Given the description of an element on the screen output the (x, y) to click on. 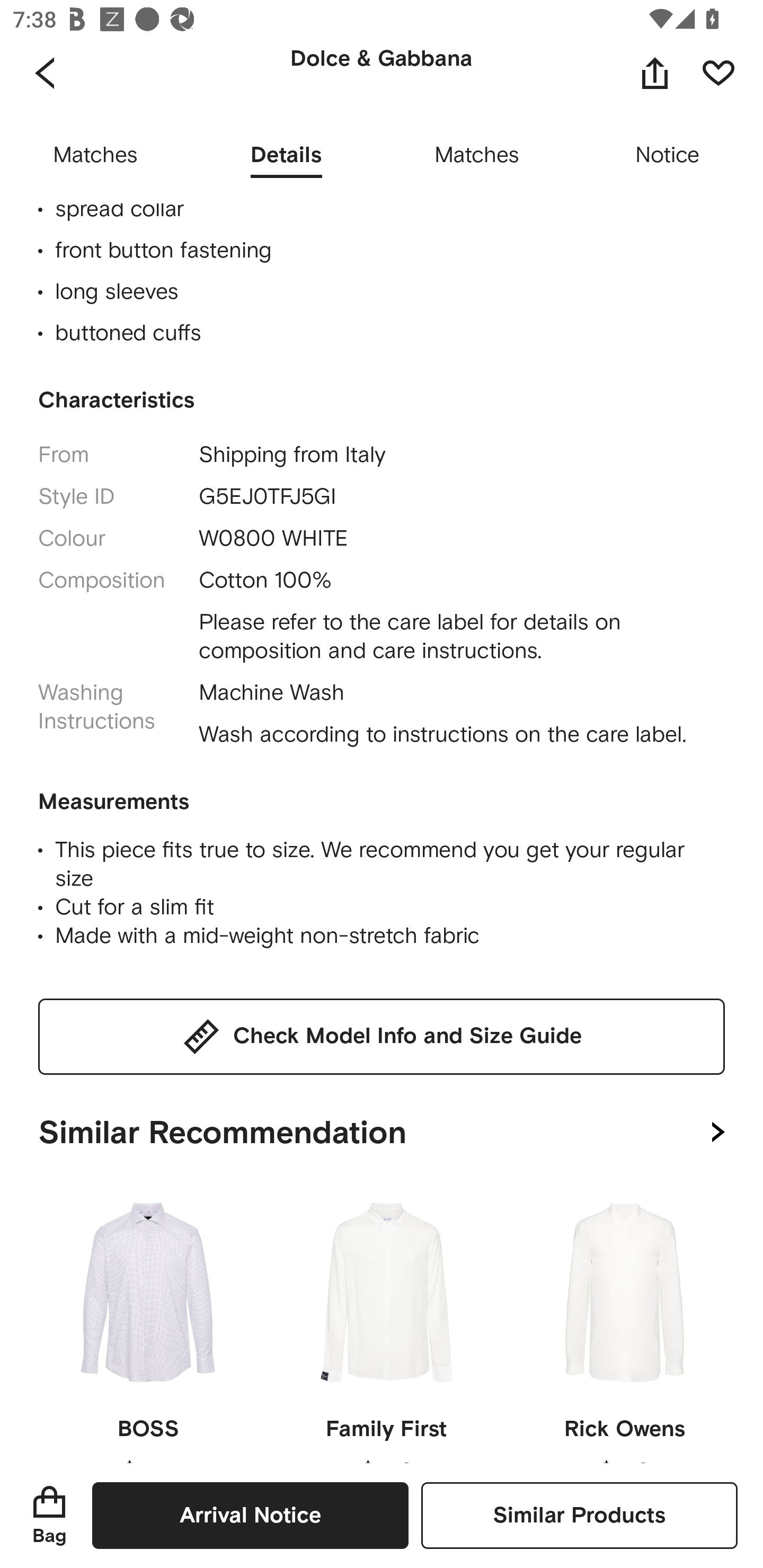
Matches (95, 155)
Matches (476, 155)
Notice (667, 155)
 Check Model Info and Size Guide (381, 1036)
Similar Recommendation (381, 1128)
BOSS $134 (147, 1322)
Family First $156 (385, 1322)
Rick Owens $710 (624, 1322)
Bag (49, 1515)
Arrival Notice (250, 1515)
Similar Products (579, 1515)
